Given the description of an element on the screen output the (x, y) to click on. 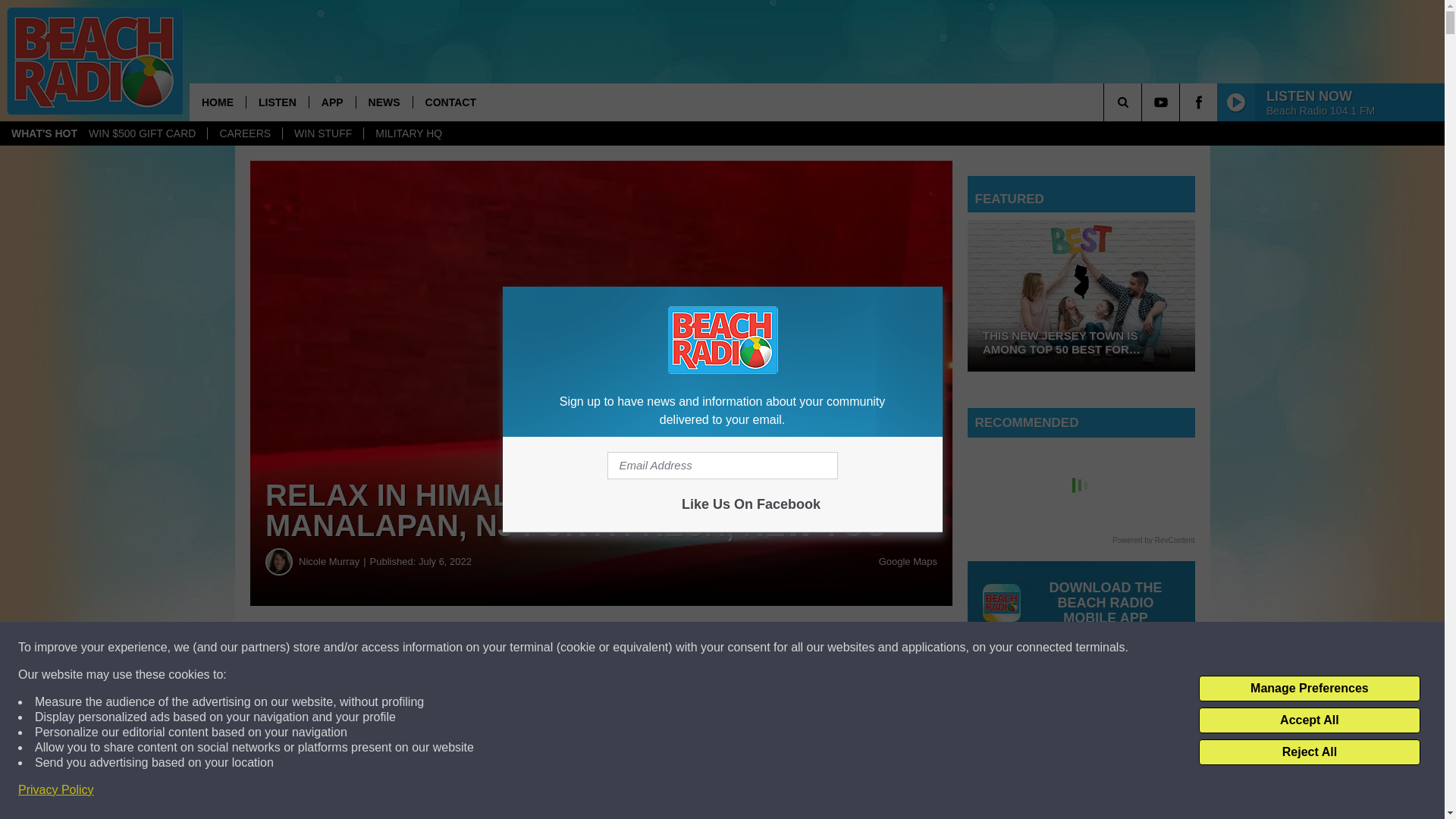
CONTACT (449, 102)
HOME (217, 102)
Share on Facebook (460, 647)
Manage Preferences (1309, 688)
WIN STUFF (322, 133)
MILITARY HQ (407, 133)
APP (331, 102)
NEWS (383, 102)
Reject All (1309, 751)
Privacy Policy (55, 789)
CAREERS (244, 133)
SEARCH (1144, 102)
LISTEN (277, 102)
Share on Twitter (741, 647)
SEARCH (1144, 102)
